Given the description of an element on the screen output the (x, y) to click on. 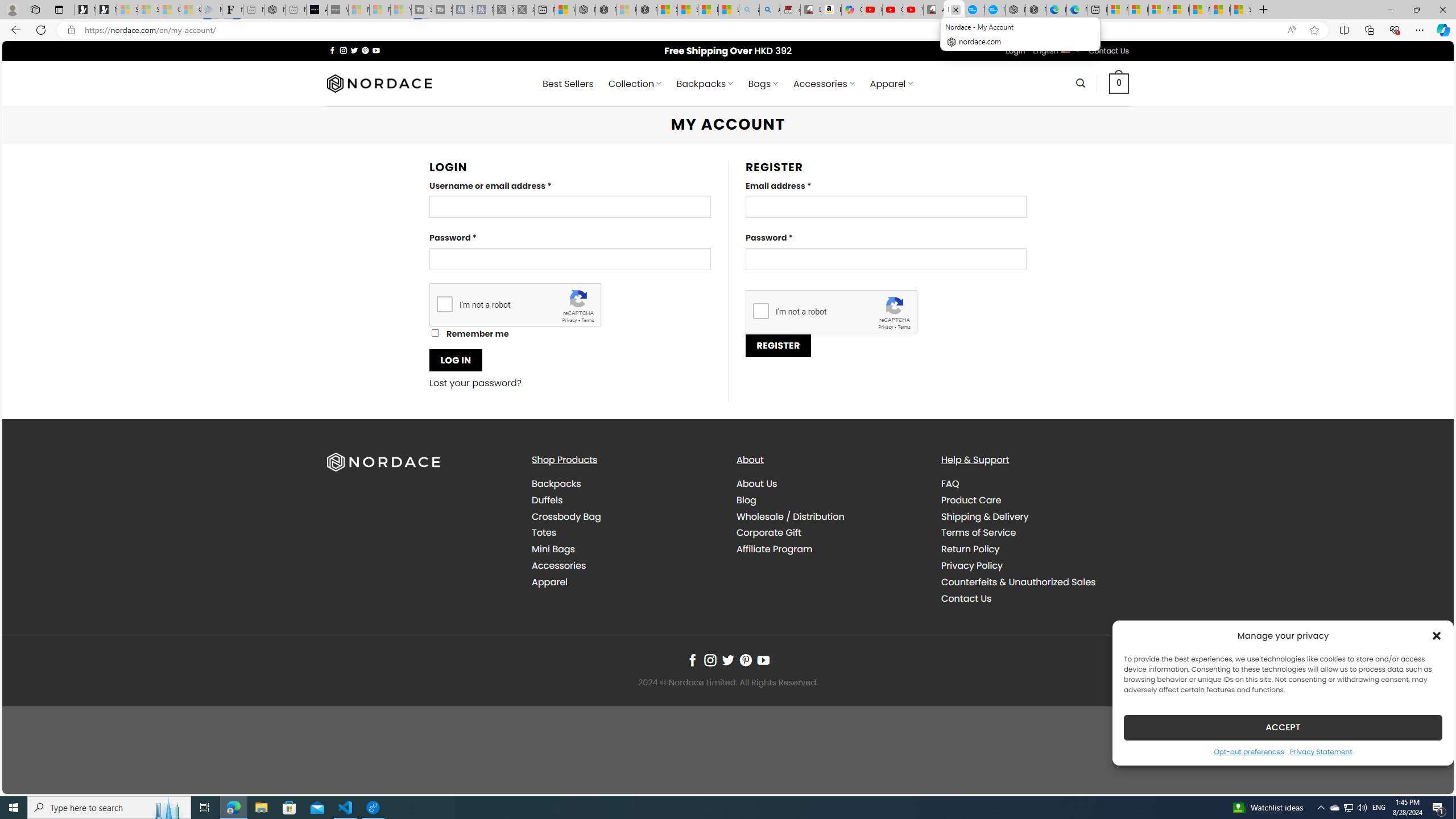
Apparel (625, 581)
About Us (756, 483)
Microsoft Start - Sleeping (379, 9)
I Gained 20 Pounds of Muscle in 30 Days! | Watch (1219, 9)
Privacy Policy (1034, 565)
Crossbody Bag (566, 516)
Terms (903, 326)
Accessories (558, 565)
Lost your password? (475, 382)
Shipping & Delivery (1034, 516)
Duffels (547, 499)
The most popular Google 'how to' searches (994, 9)
Gloom - YouTube (892, 9)
